Given the description of an element on the screen output the (x, y) to click on. 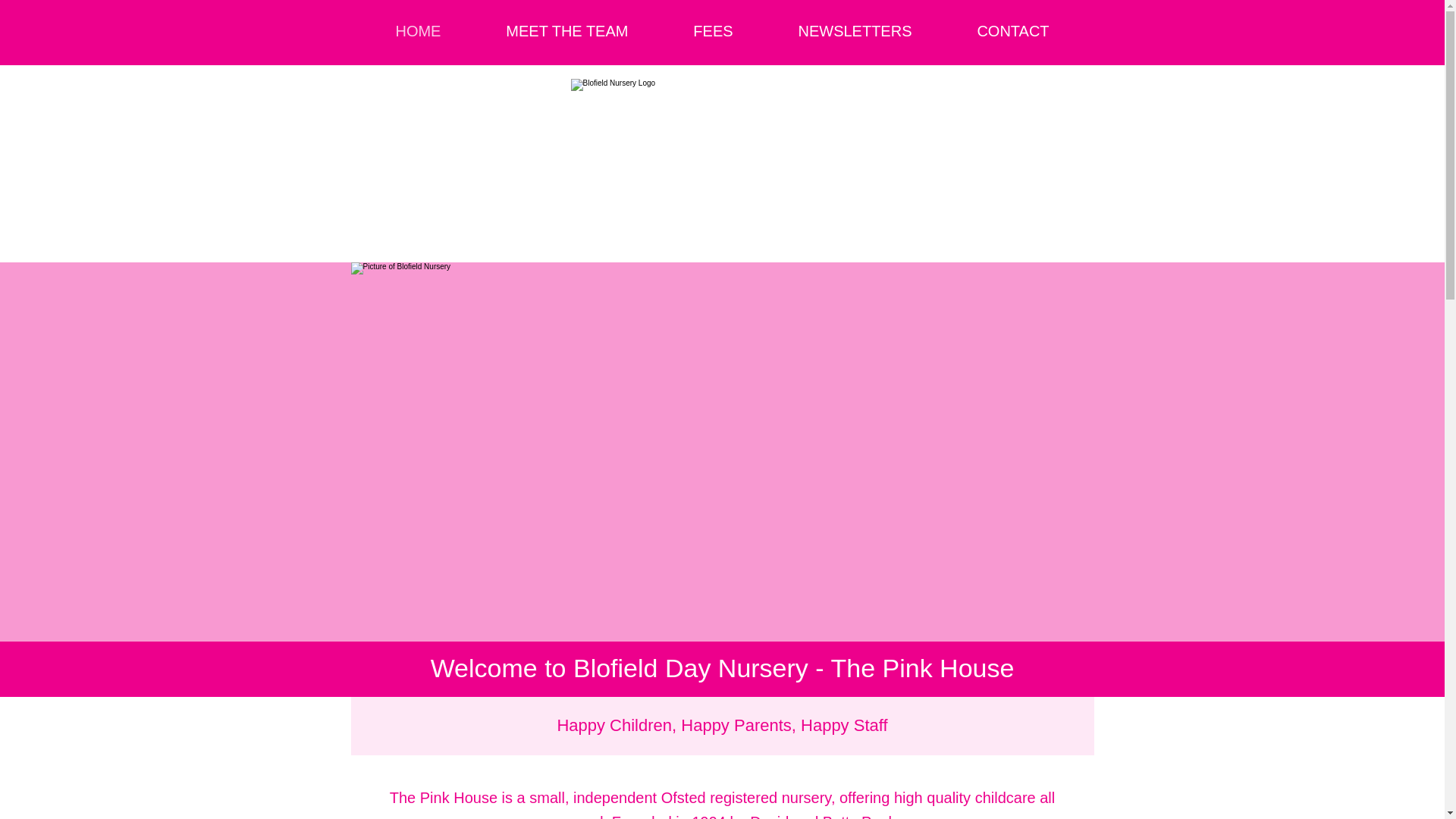
NEWSLETTERS (855, 31)
HOME (417, 31)
CONTACT (1012, 31)
FEES (712, 31)
MEET THE TEAM (567, 31)
